Given the description of an element on the screen output the (x, y) to click on. 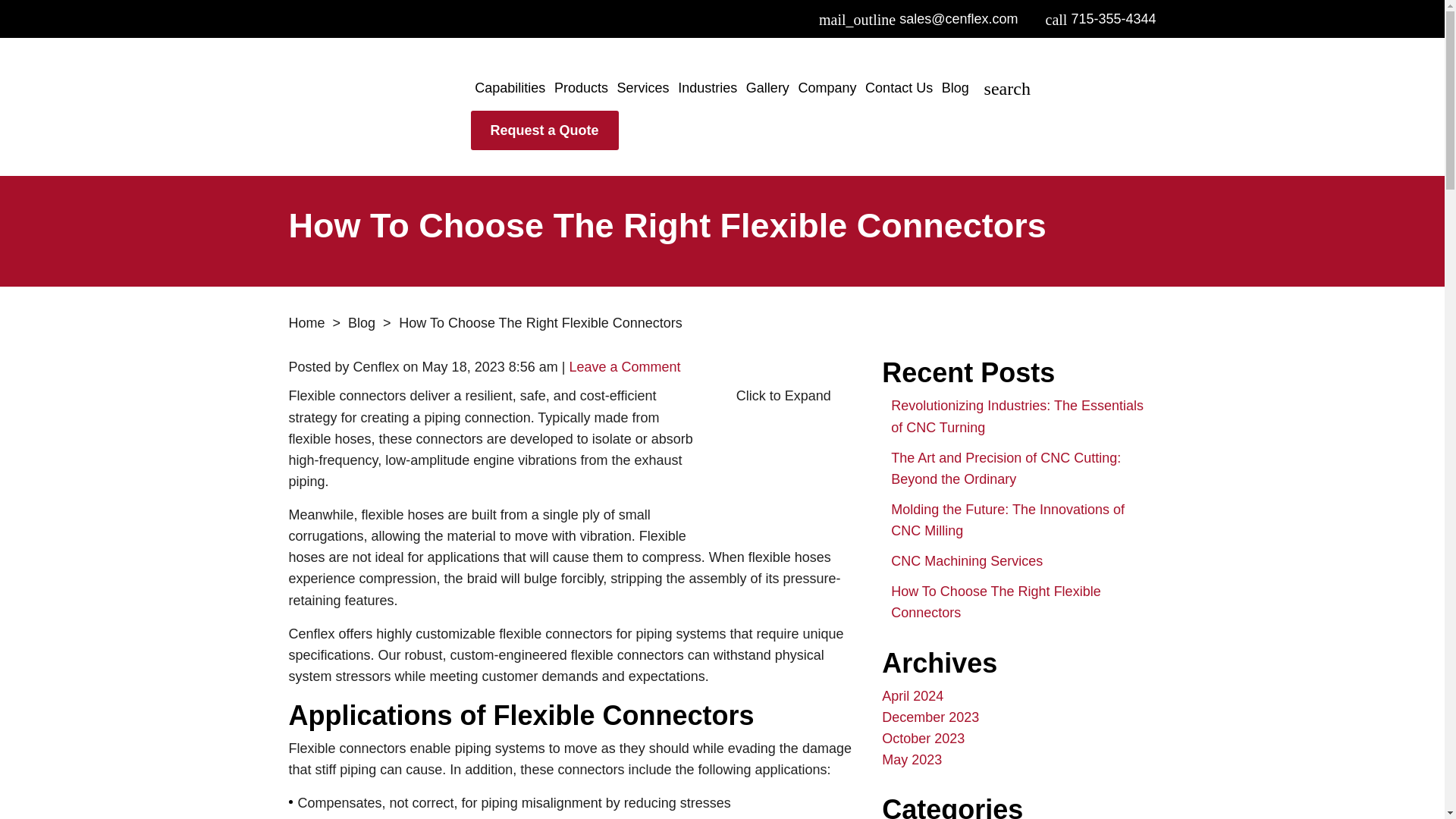
Industries (707, 87)
Capabilities (510, 87)
Products (580, 87)
Capabilities (510, 87)
Gallery (767, 87)
Email Us (917, 18)
Products (580, 87)
7153554344 (1100, 18)
call 715-355-4344 (1100, 18)
Company (827, 87)
Services (642, 87)
Cenflex, Inc. (379, 107)
